Given the description of an element on the screen output the (x, y) to click on. 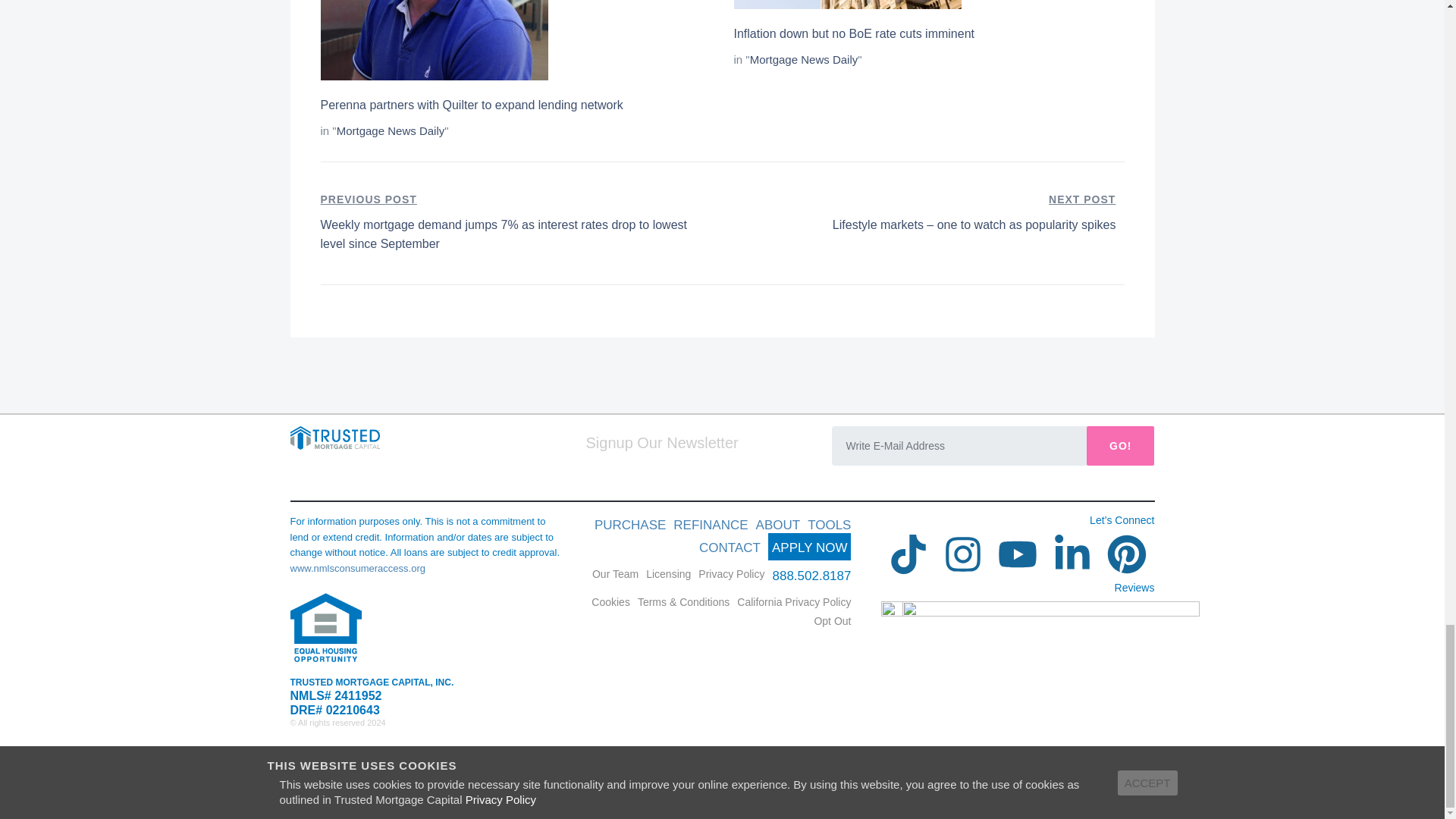
PURCHASE (629, 524)
REFINANCE (710, 524)
TOOLS (829, 524)
Inflation down but no BoE rate cuts imminent (854, 33)
Mortgage News Daily (804, 59)
www.nmlsconsumeraccess.org (357, 568)
APPLY NOW (809, 546)
GO! (1120, 445)
Our Team (615, 573)
Perenna partners with Quilter to expand lending network (471, 104)
Licensing (668, 573)
Mortgage News Daily (390, 130)
888.502.8187 (810, 575)
CONTACT (729, 547)
Cookies (610, 602)
